Given the description of an element on the screen output the (x, y) to click on. 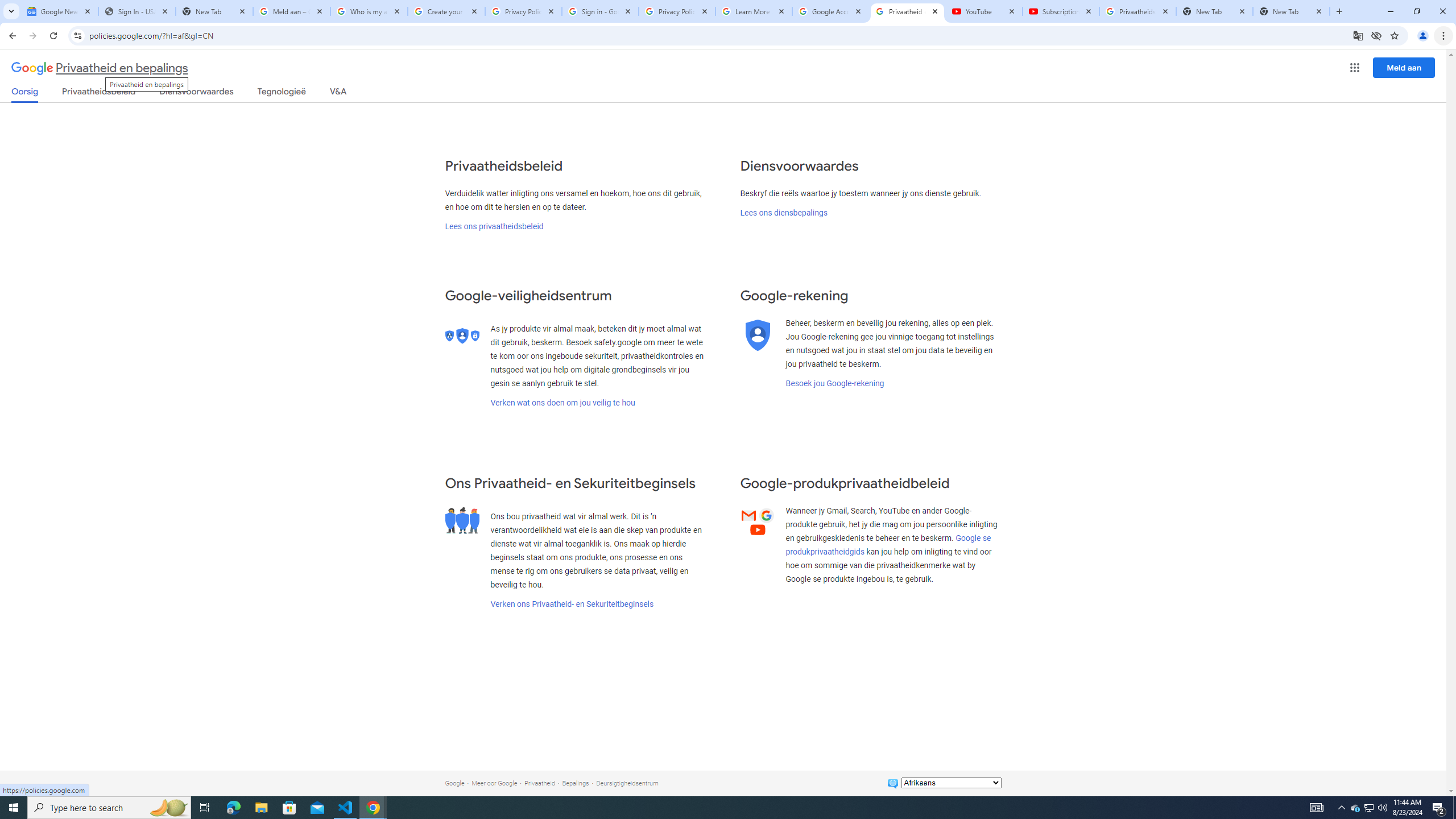
Meld aan (1404, 67)
Sign in - Google Accounts (599, 11)
Privaatheid en bepalings (99, 68)
Meer oor Google (493, 783)
Lees ons privaatheidsbeleid (493, 226)
Google-programme (1355, 67)
Google News (59, 11)
New Tab (1291, 11)
Privaatheidsbeleid (98, 93)
